Given the description of an element on the screen output the (x, y) to click on. 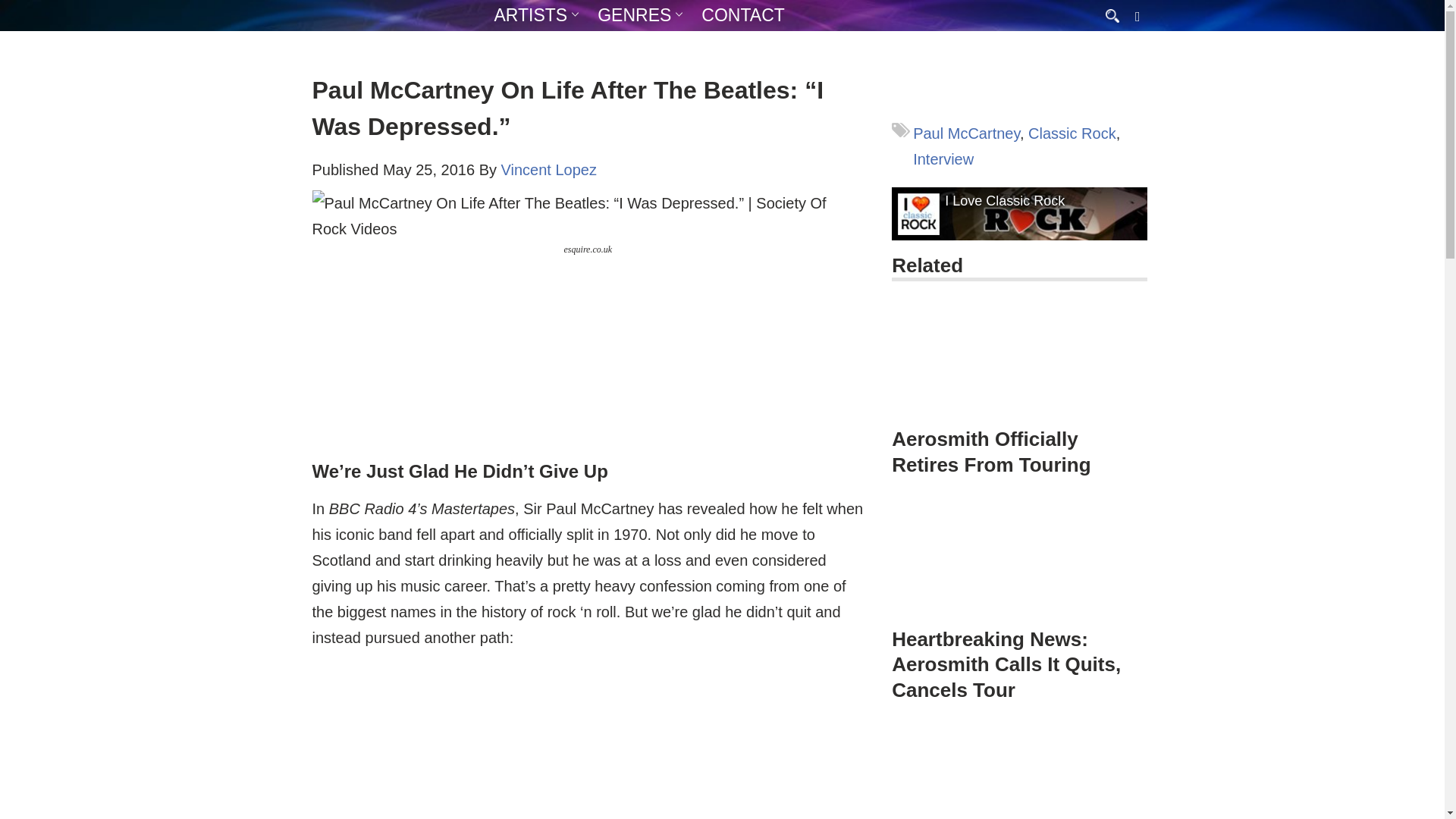
Heartbreaking News: Aerosmith Calls It Quits, Cancels Tour (1019, 583)
ARTISTS (531, 15)
Aerosmith Officially Retires From Touring (990, 451)
Aerosmith Officially Retires From Touring (1019, 370)
Aerosmith Officially Retires From Touring (1019, 359)
I Love Classic Rock (1004, 201)
Heartbreaking News: Aerosmith Calls It Quits, Cancels Tour (1019, 559)
CONTACT (742, 15)
GENRES (633, 15)
7 Memorable Classic Rock Stage Accidents (1019, 771)
Search (15, 6)
7 Memorable Classic Rock Stage Accidents (1019, 771)
ABOUT (577, 45)
Heartbreaking News: Aerosmith Calls It Quits, Cancels Tour (1006, 664)
